Given the description of an element on the screen output the (x, y) to click on. 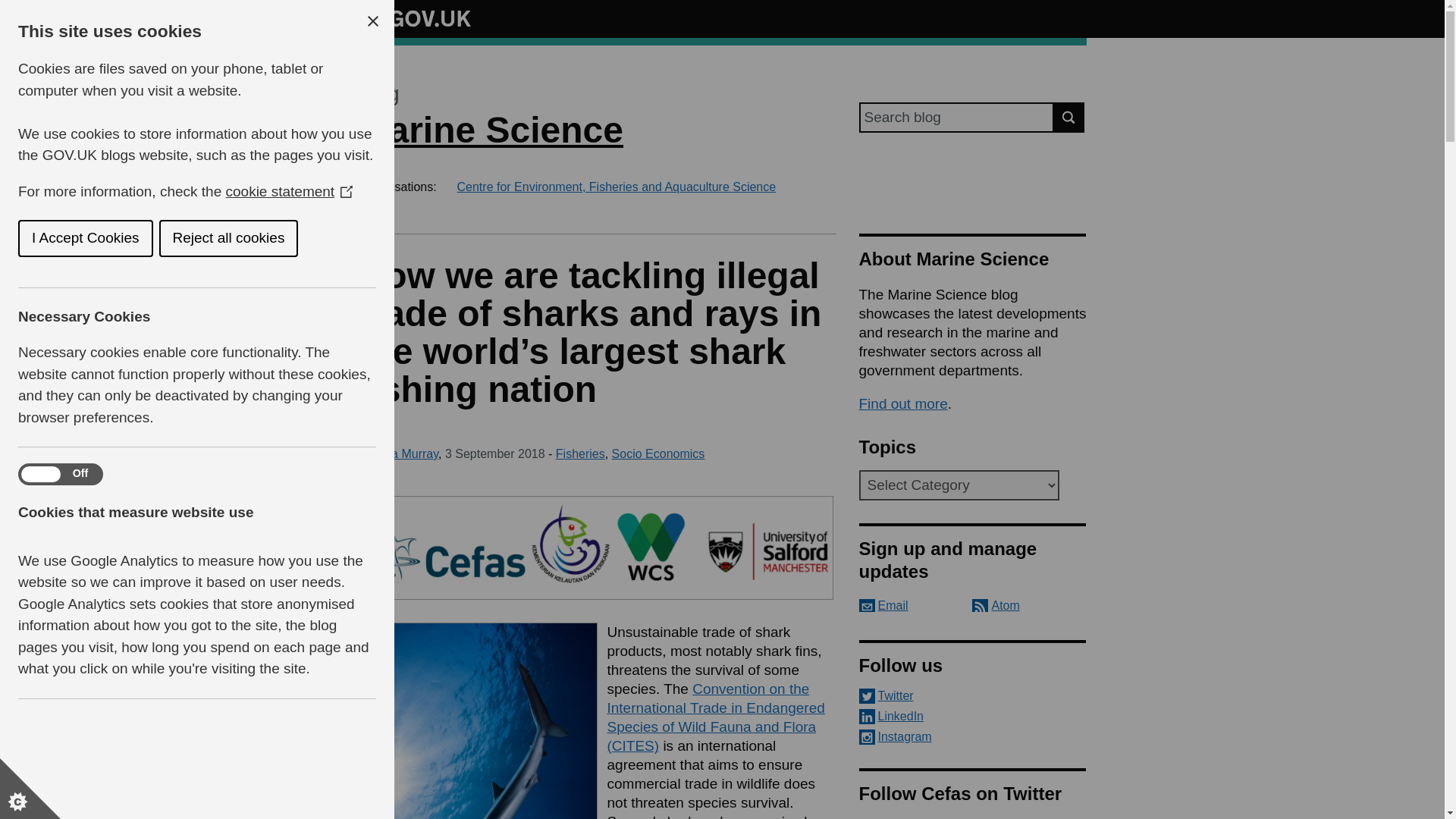
Search (1069, 117)
I Accept Cookies (79, 238)
Fisheries (580, 453)
Blog (378, 93)
Posts by Joanna Murray (398, 453)
Skip to main content (11, 7)
Reject all cookies (227, 238)
Marine Science (490, 129)
Socio Economics (657, 453)
GOV.UK (414, 18)
Search (1069, 117)
Joanna Murray (398, 453)
GOV.UK (414, 15)
Centre for Environment, Fisheries and Aquaculture Science (616, 186)
Go to the GOV.UK homepage (414, 18)
